Given the description of an element on the screen output the (x, y) to click on. 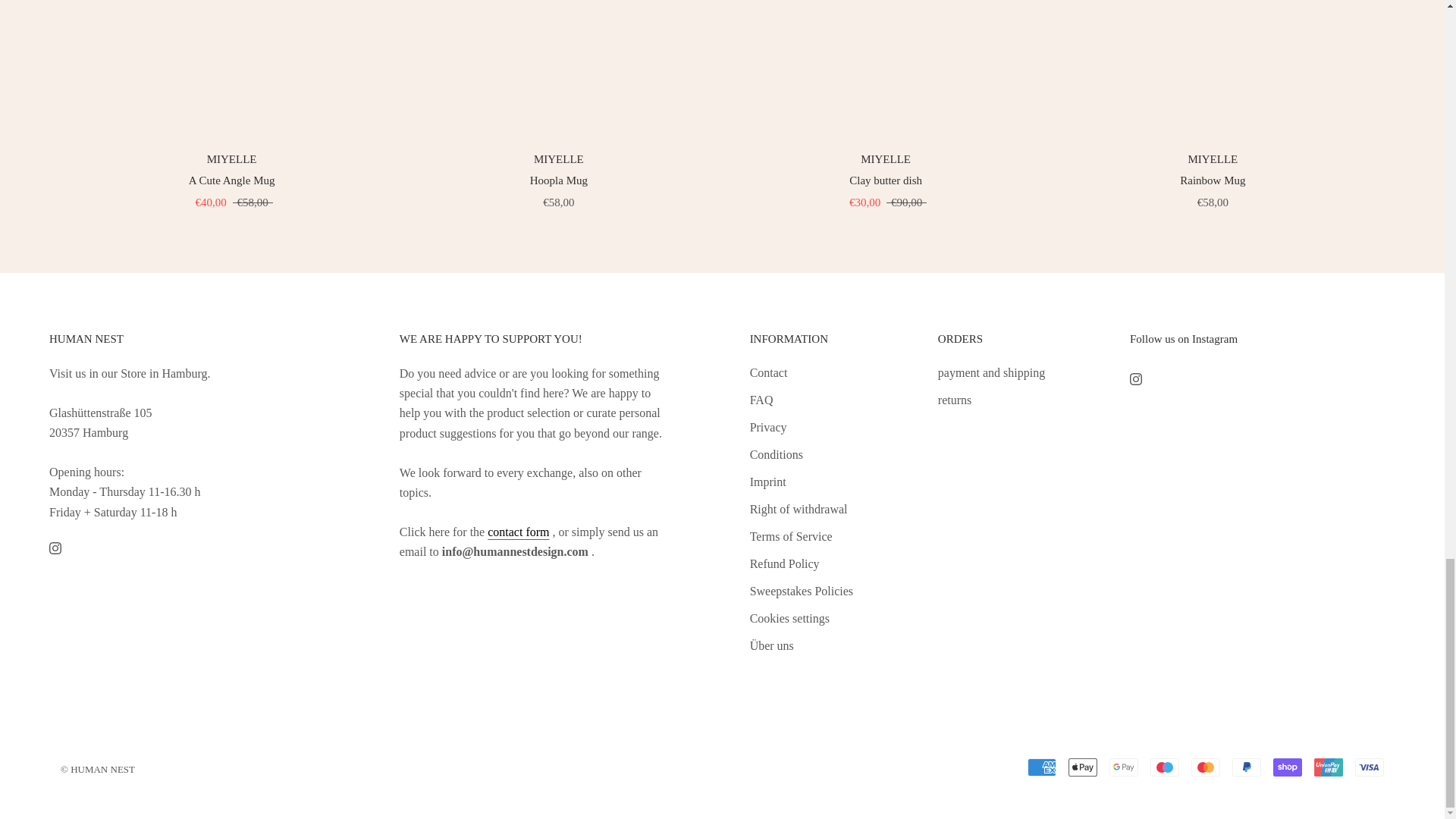
Google Pay (1123, 767)
Shop Pay (1286, 767)
Mastercard (1205, 767)
Apple Pay (1082, 767)
Maestro (1164, 767)
PayPal (1245, 767)
American Express (1042, 767)
Contact (517, 531)
